Given the description of an element on the screen output the (x, y) to click on. 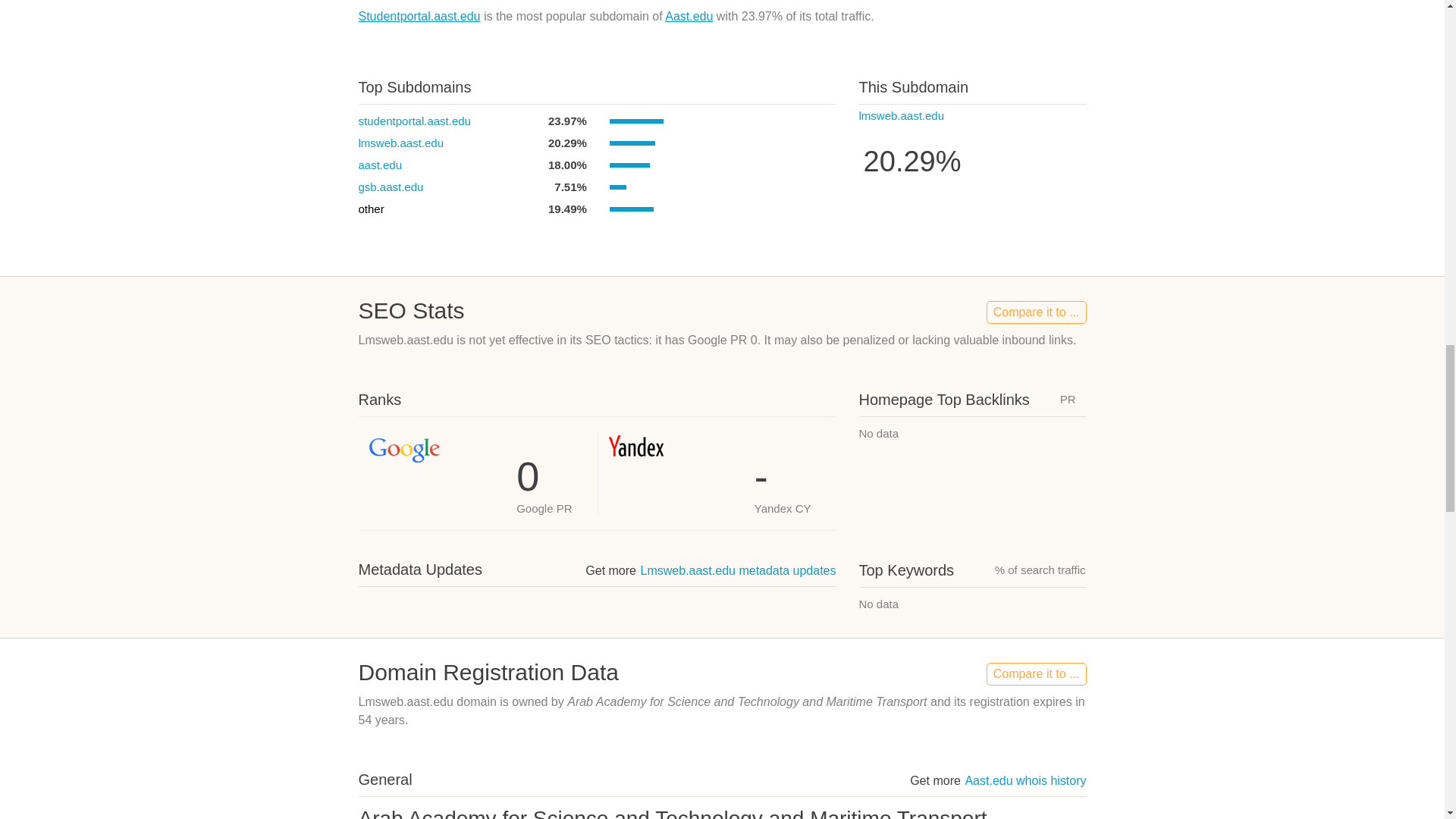
gsb.aast.edu (390, 186)
Aast.edu whois history (1024, 780)
aast.edu (379, 164)
lmsweb.aast.edu (401, 142)
Lmsweb.aast.edu metadata updates (737, 570)
lmsweb.aast.edu (901, 115)
Compare it to ... (1036, 673)
Compare it to ... (1036, 312)
studentportal.aast.edu (414, 120)
Studentportal.aast.edu (419, 15)
